Given the description of an element on the screen output the (x, y) to click on. 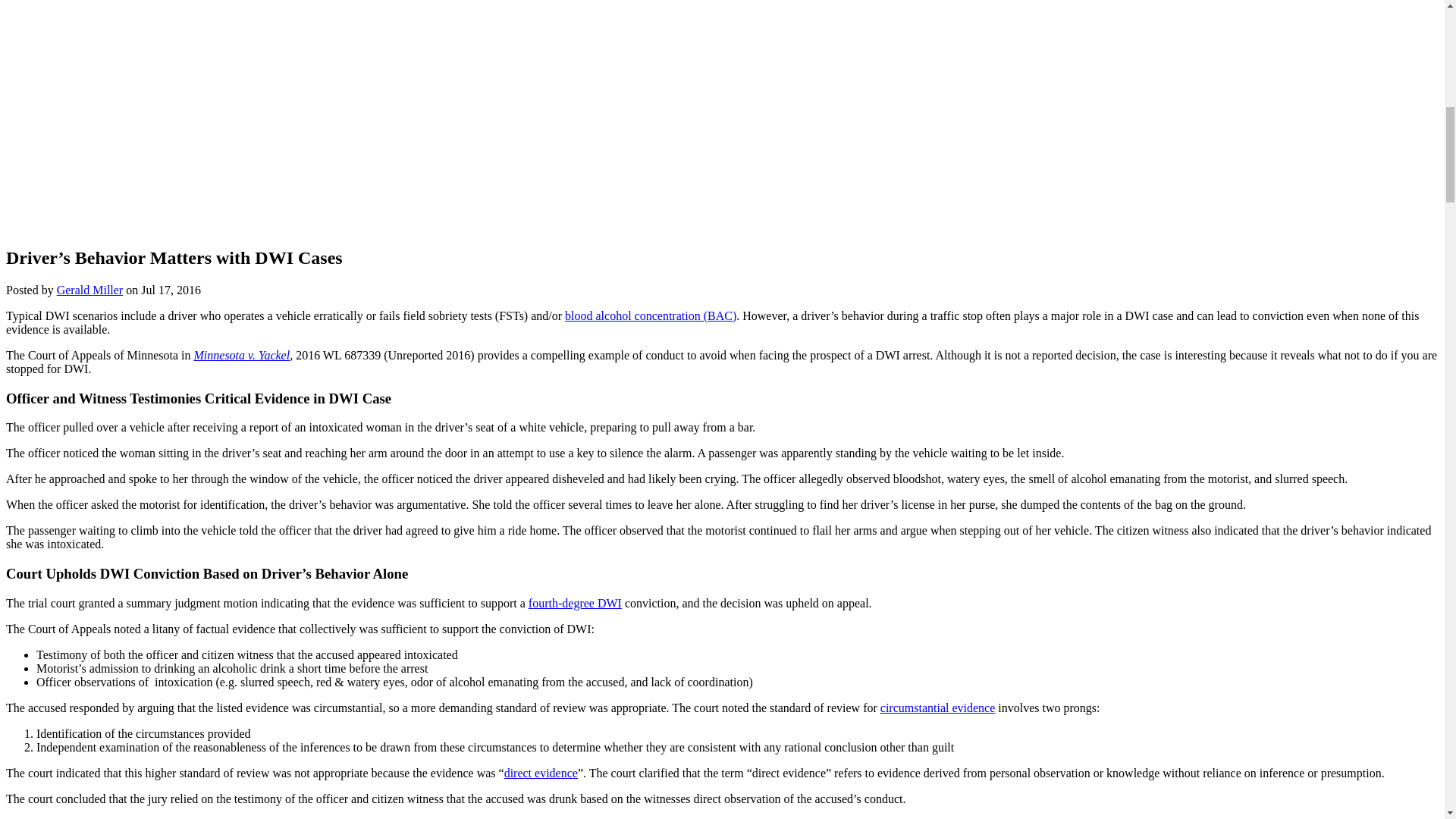
direct evidence (540, 772)
Posts by Gerald Miller (89, 289)
Gerald Miller (89, 289)
fourth-degree DWI (574, 603)
circumstantial evidence (937, 707)
Minnesota v. Yackel (241, 354)
